Given the description of an element on the screen output the (x, y) to click on. 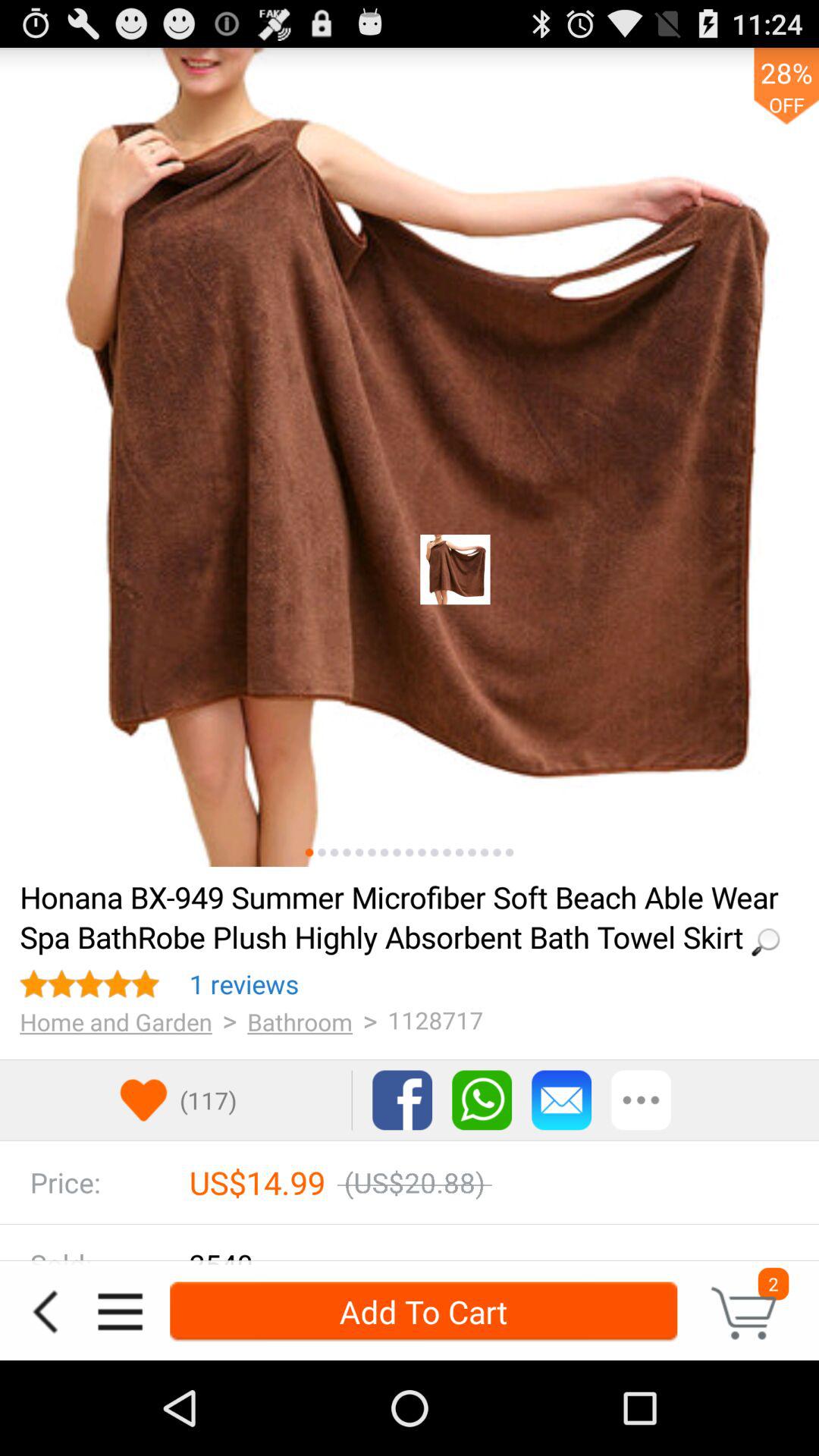
slideshow (472, 852)
